Given the description of an element on the screen output the (x, y) to click on. 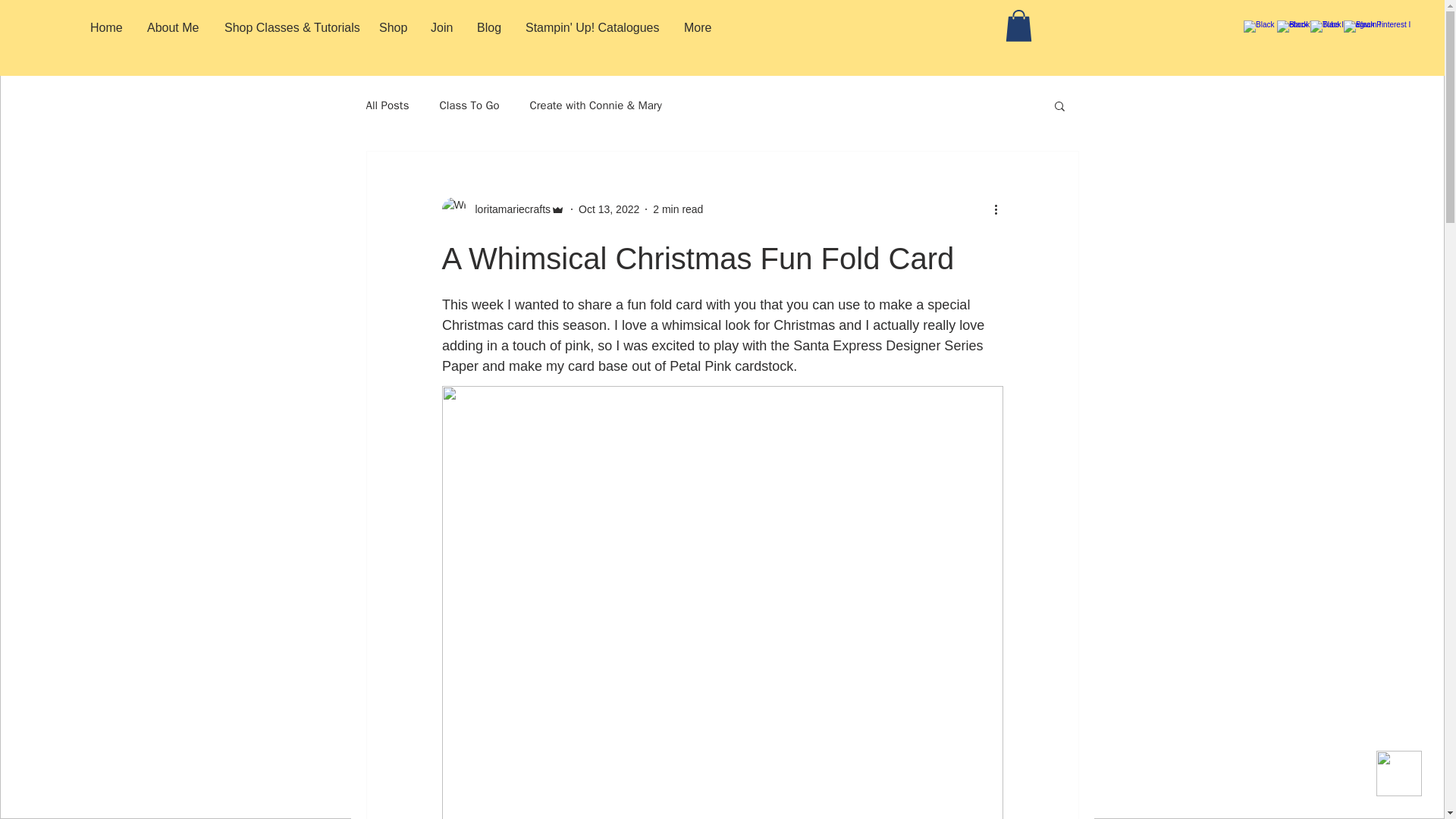
Stampin' Up! Catalogues (592, 27)
About Me (173, 27)
All Posts (387, 105)
loritamariecrafts (502, 209)
Home (106, 27)
Class To Go (469, 105)
loritamariecrafts (507, 209)
Blog (489, 27)
Shop (393, 27)
Join (442, 27)
